Given the description of an element on the screen output the (x, y) to click on. 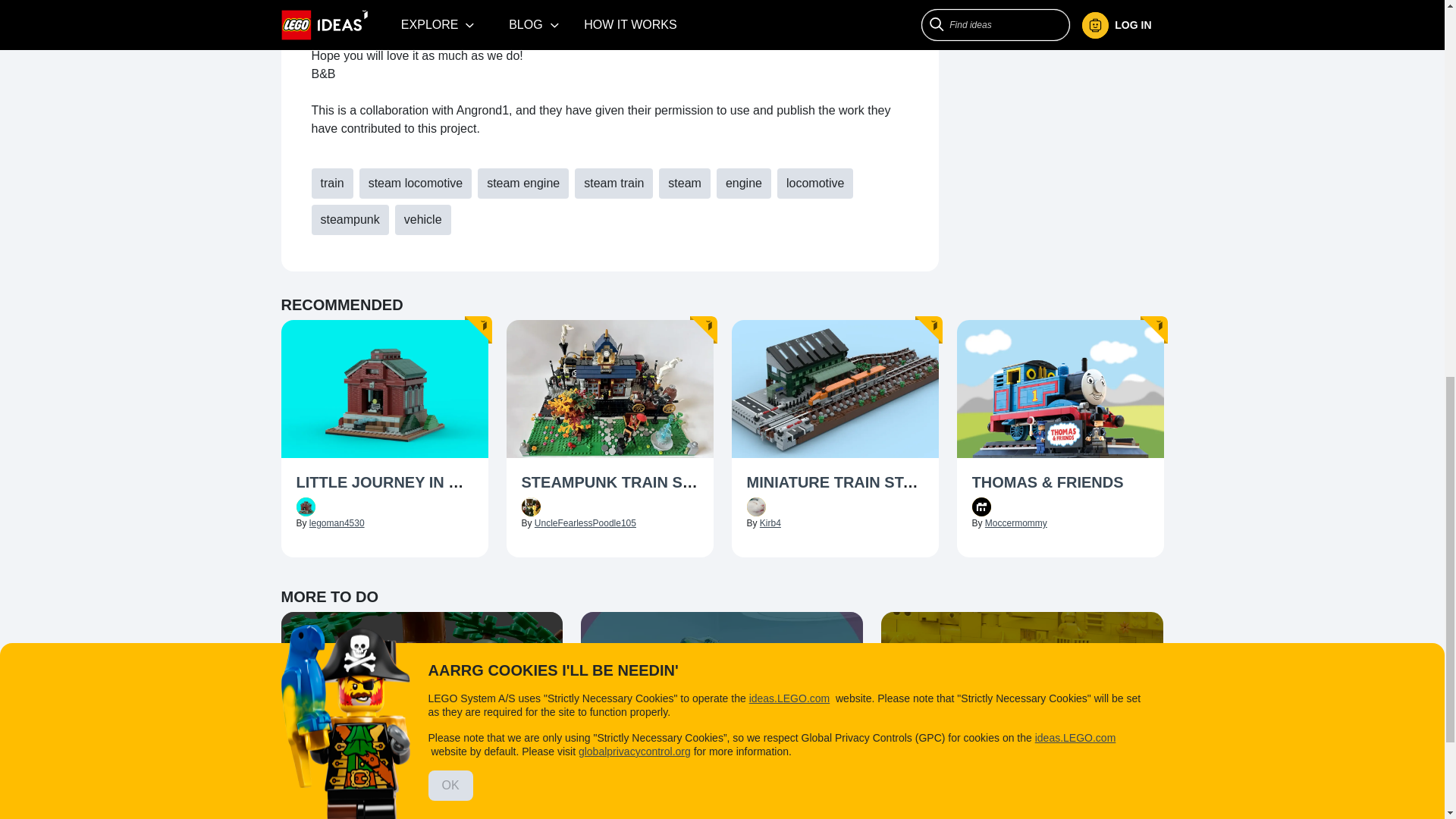
Little Journey in Steam Locommotive (383, 483)
Steampunk Train Station (609, 483)
